Given the description of an element on the screen output the (x, y) to click on. 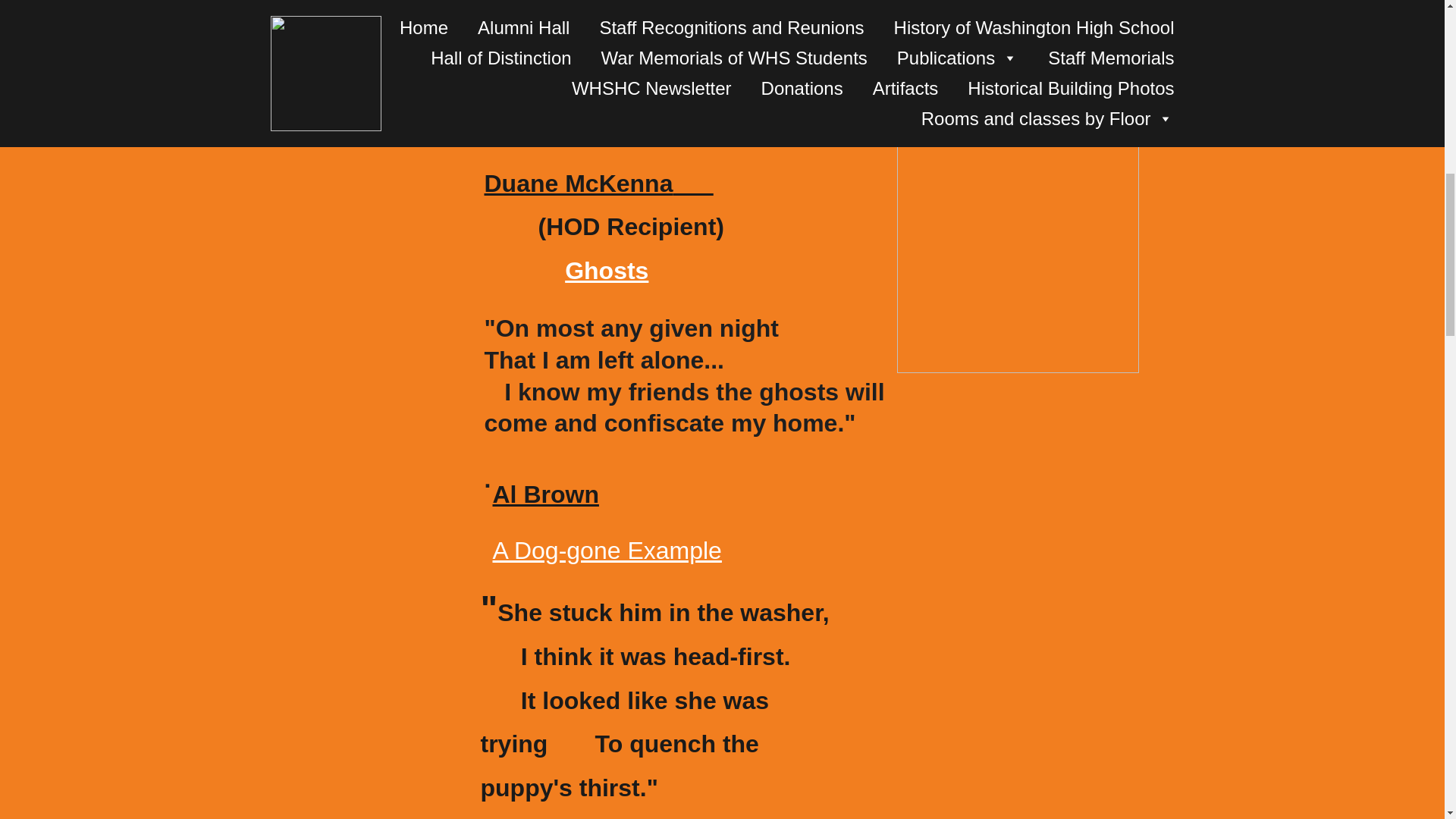
Ghosts (605, 270)
A Dog-gone Example (606, 550)
Duane McKenna (577, 183)
Al Brown (545, 493)
